Given the description of an element on the screen output the (x, y) to click on. 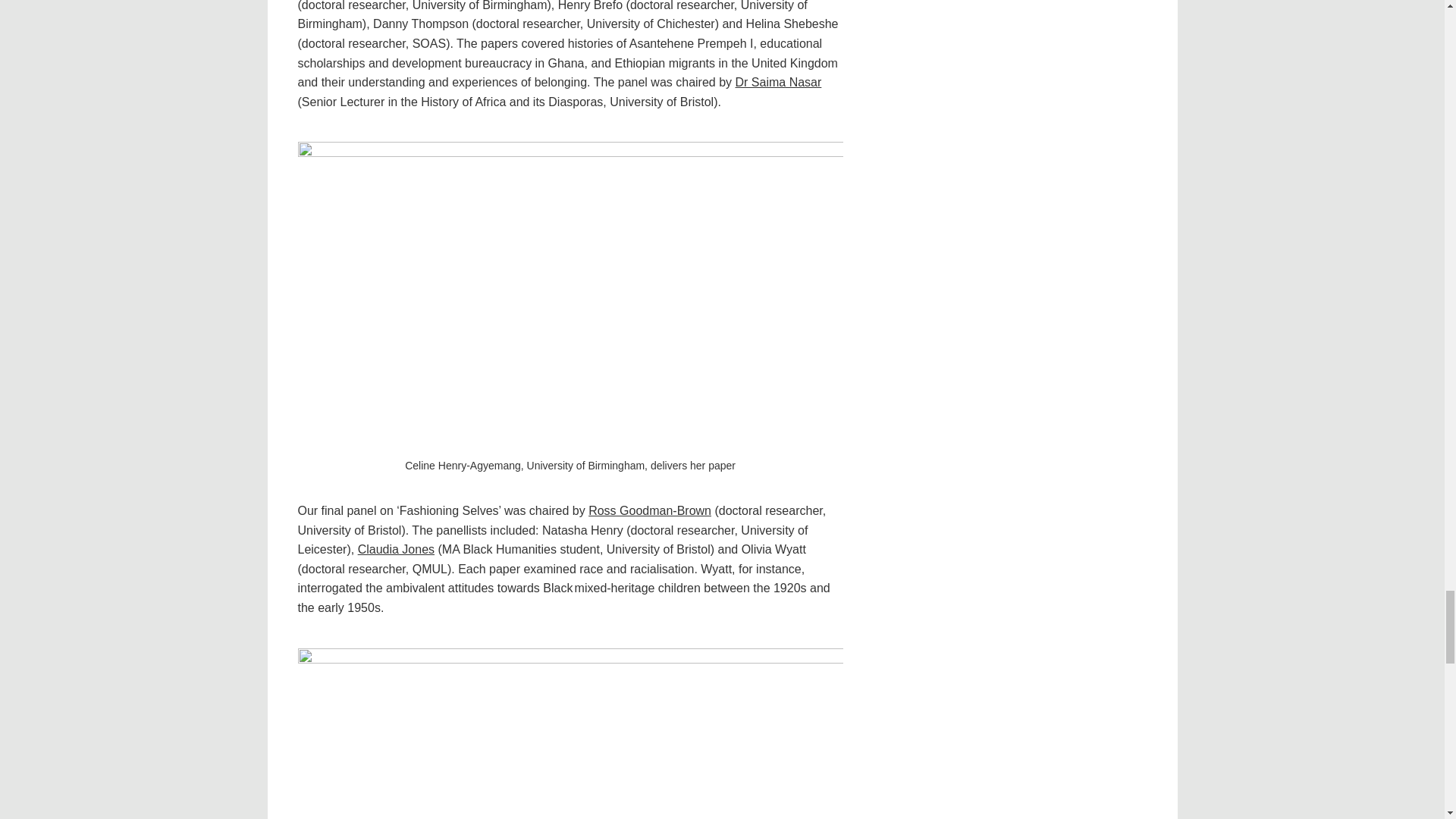
Claudia Jones (395, 549)
Ross Goodman-Brown (649, 510)
Dr Saima Nasar (778, 82)
